Given the description of an element on the screen output the (x, y) to click on. 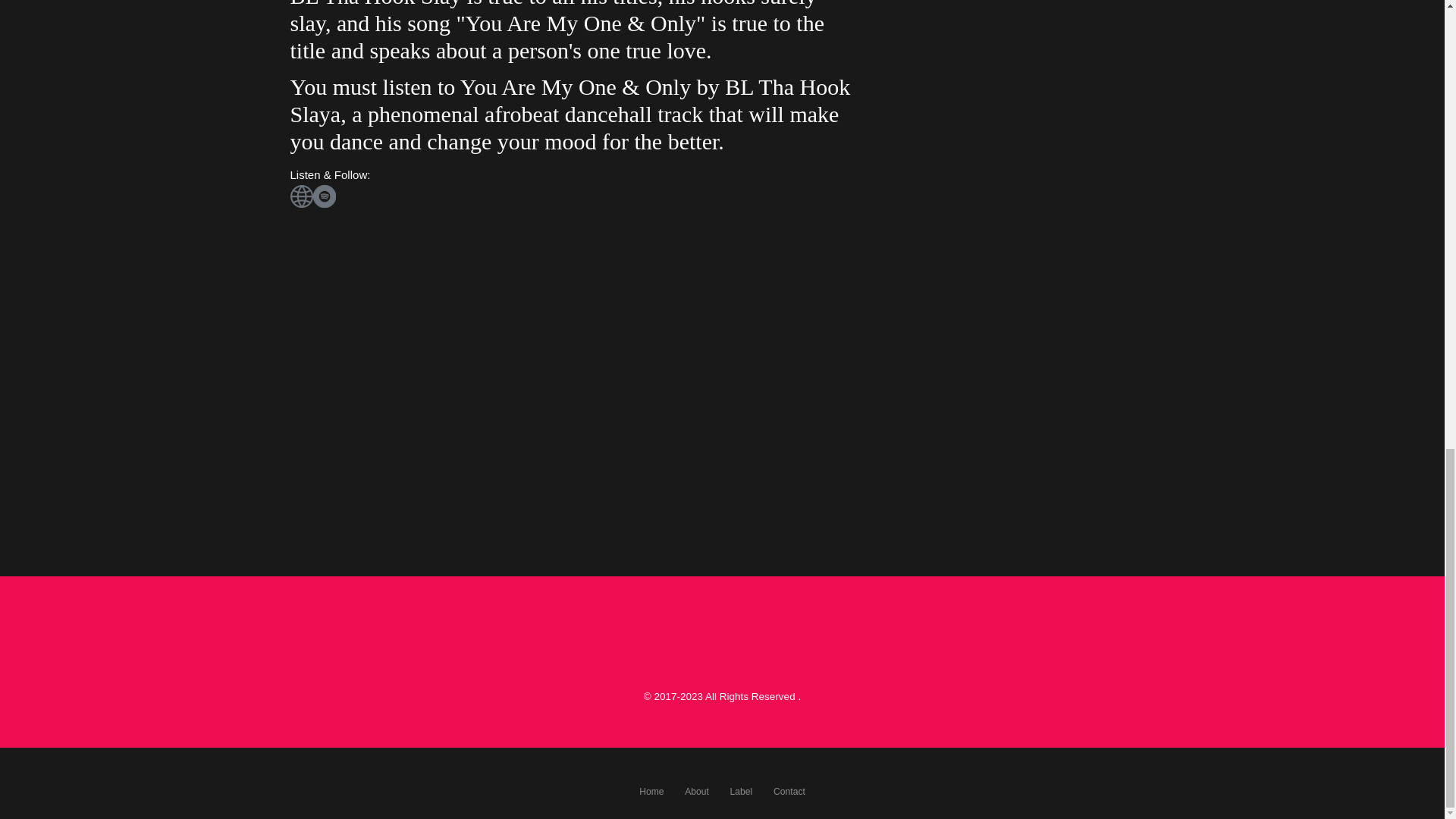
Label (741, 791)
Contact (789, 791)
Home (651, 791)
About (696, 791)
